Given the description of an element on the screen output the (x, y) to click on. 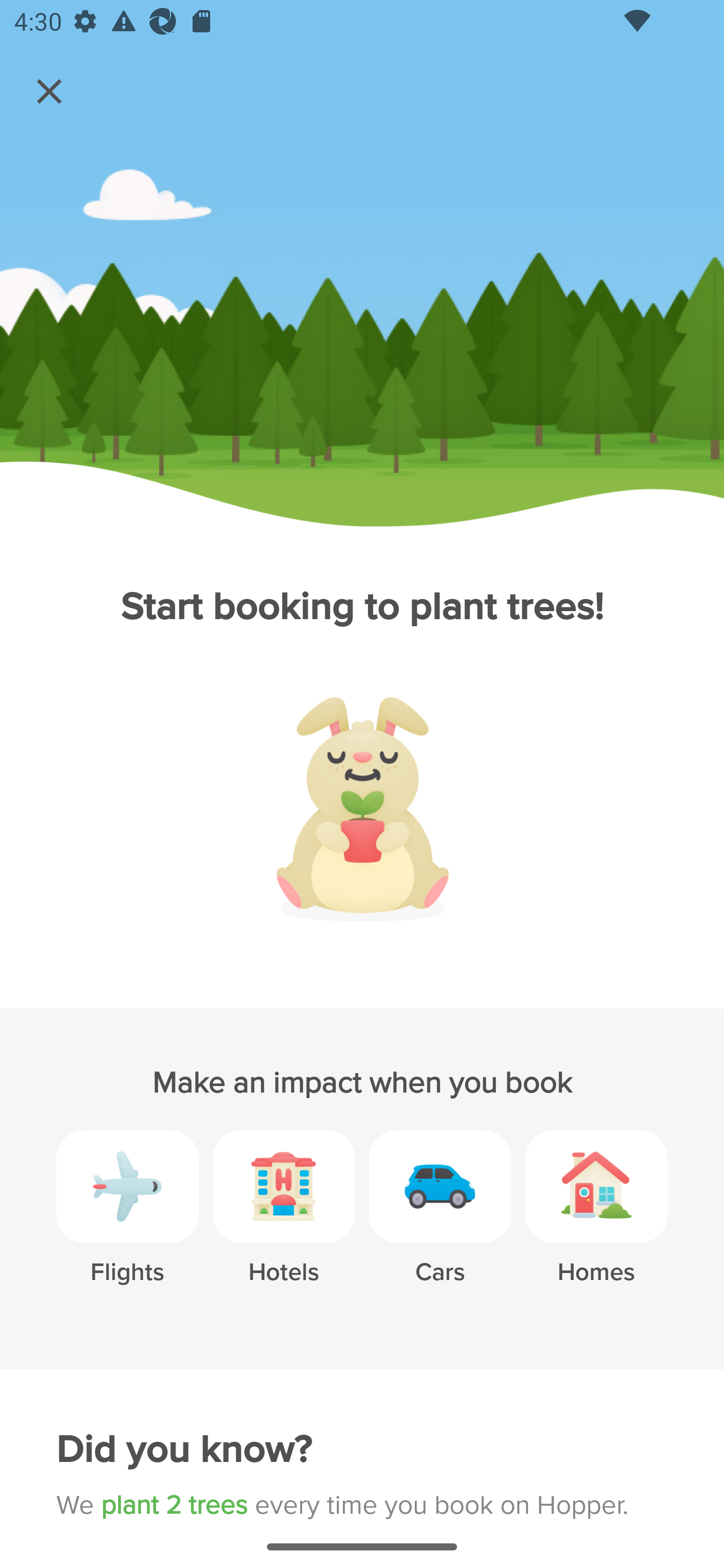
Navigate up (49, 91)
Flights (127, 1221)
Hotels (283, 1221)
Cars (440, 1221)
Homes (596, 1221)
